Given the description of an element on the screen output the (x, y) to click on. 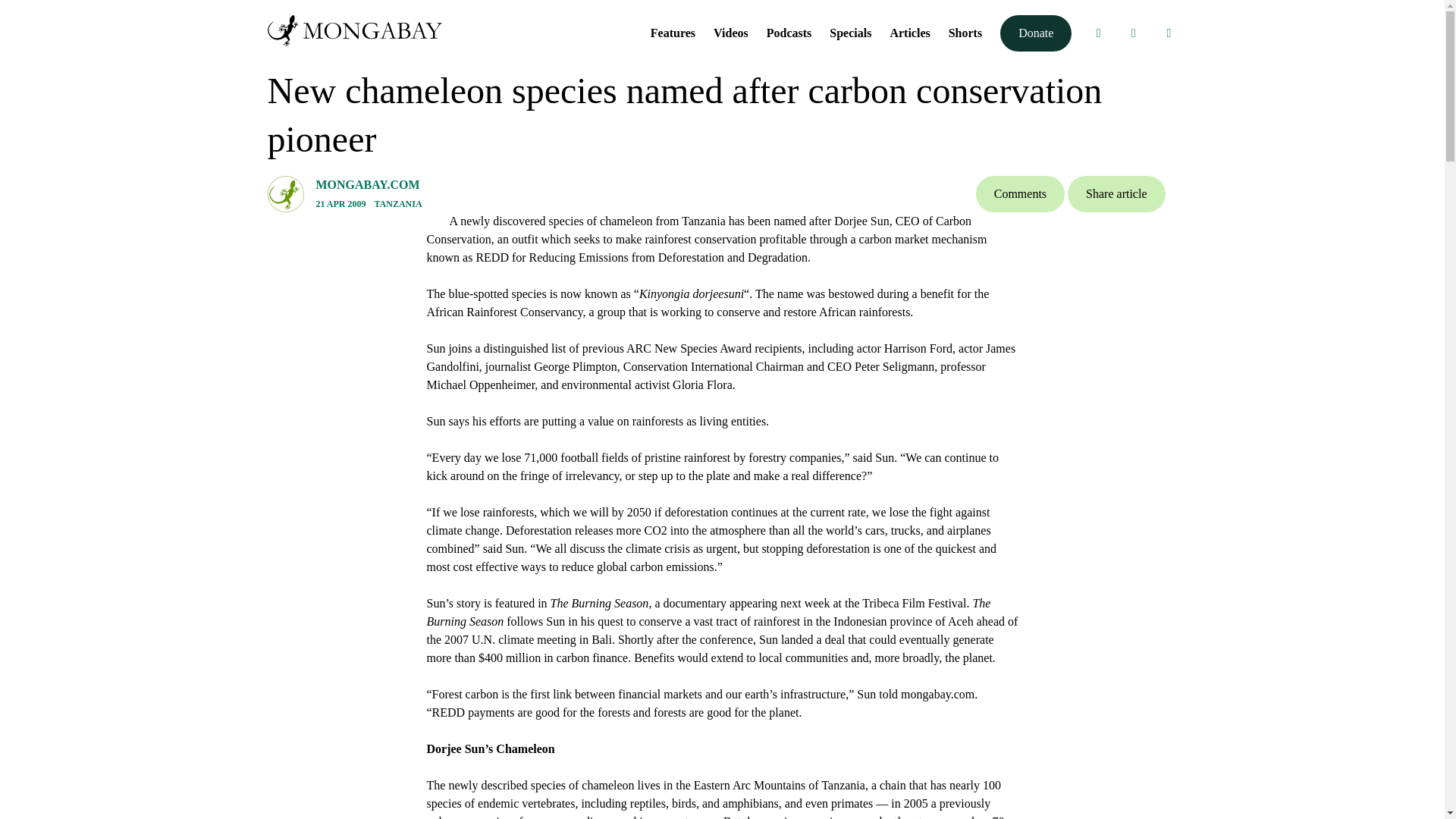
Podcasts (789, 32)
Articles (909, 32)
Features (672, 32)
Donate (1035, 33)
Shorts (965, 32)
Specials (849, 32)
Videos (730, 32)
